Given the description of an element on the screen output the (x, y) to click on. 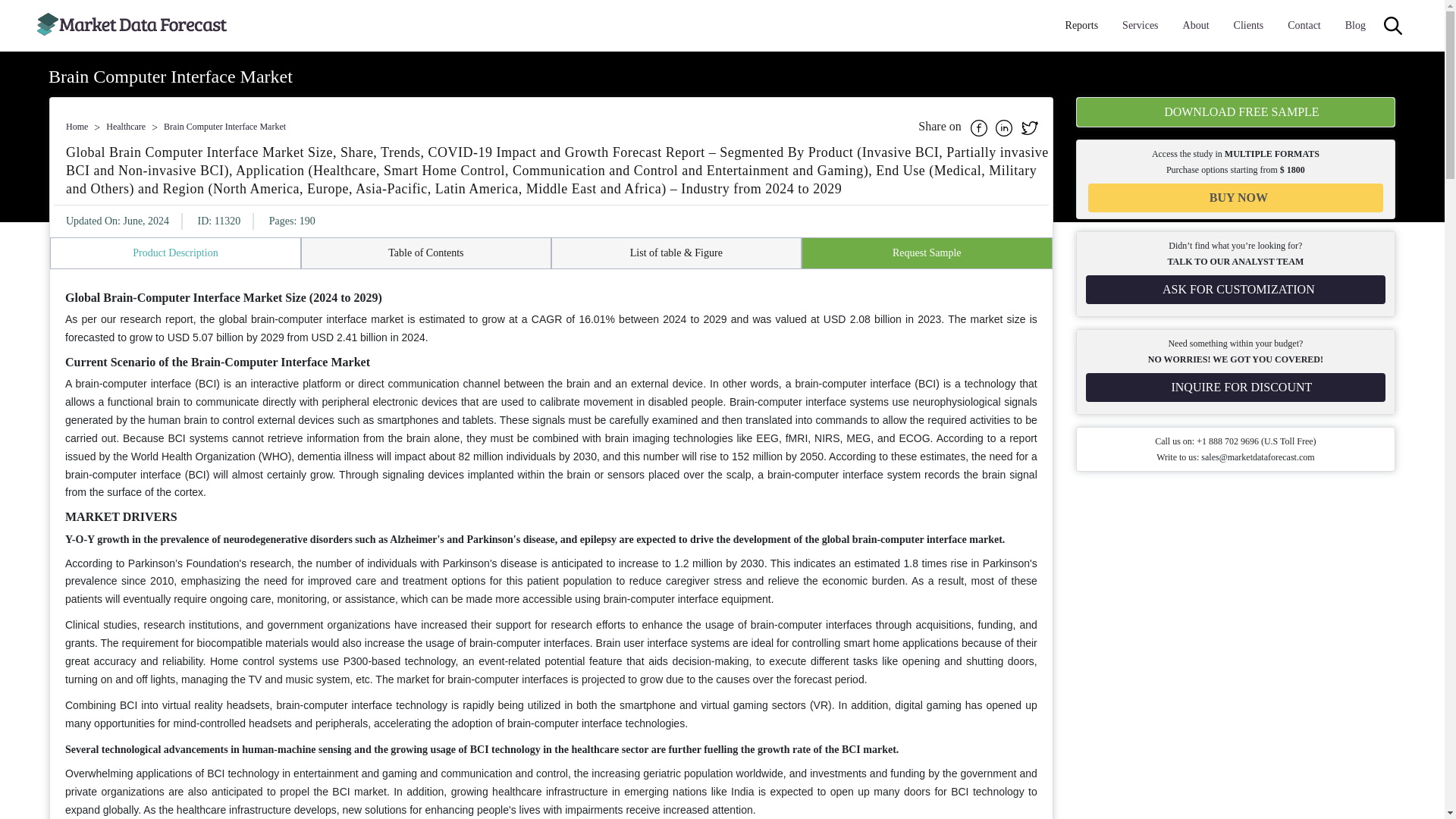
Contact (1303, 25)
Healthcare (125, 126)
About (1195, 25)
Brain Computer Interface Market (224, 126)
Clients (1248, 25)
Home (76, 126)
search-icon (1393, 25)
Services (1139, 25)
Product Description (174, 253)
Linkedin (1004, 126)
Request Sample (926, 253)
Table of Contents (425, 253)
Reports (1082, 25)
Market Data Forecast logo (132, 25)
Blog (1355, 25)
